Given the description of an element on the screen output the (x, y) to click on. 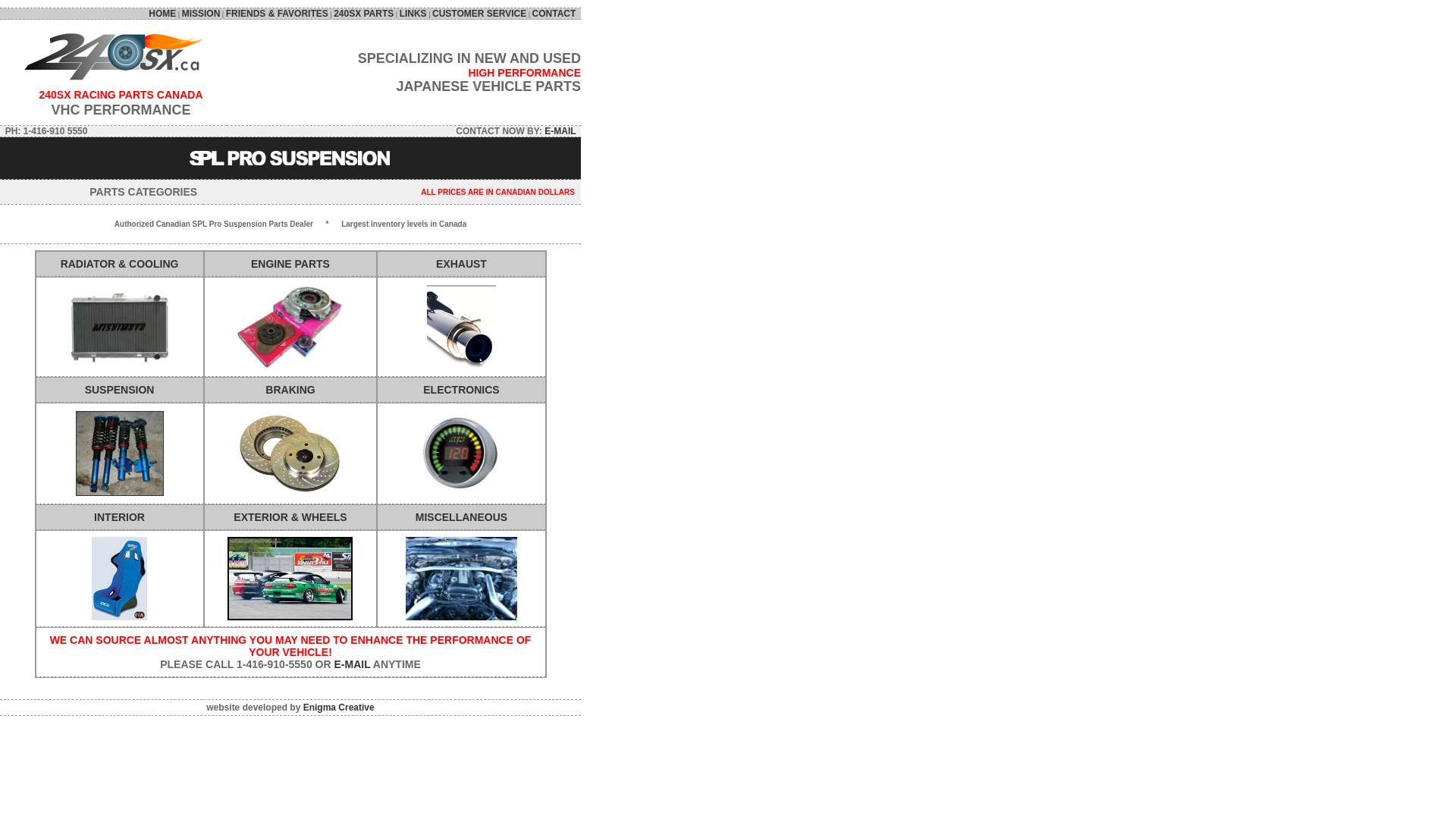
ENGINE PARTS Element type: text (290, 263)
CONTACT   Element type: text (556, 13)
EXHAUST Element type: text (461, 263)
BRAKING Element type: text (289, 389)
INTERIOR Element type: text (119, 517)
FRIENDS & FAVORITES Element type: text (276, 13)
CUSTOMER SERVICE Element type: text (479, 13)
E-MAIL Element type: text (351, 664)
Enigma Creative Element type: text (338, 707)
MISCELLANEOUS Element type: text (461, 517)
SPL Pro Suspension Parts Element type: hover (290, 157)
LINKS Element type: text (412, 13)
E-MAIL Element type: text (559, 130)
RADIATOR & COOLING Element type: text (119, 263)
240SX PARTS Element type: text (363, 13)
EXTERIOR & WHEELS Element type: text (289, 517)
SUSPENSION Element type: text (119, 389)
HOME Element type: text (161, 13)
MISSION Element type: text (201, 13)
ELECTRONICS Element type: text (460, 389)
